Given the description of an element on the screen output the (x, y) to click on. 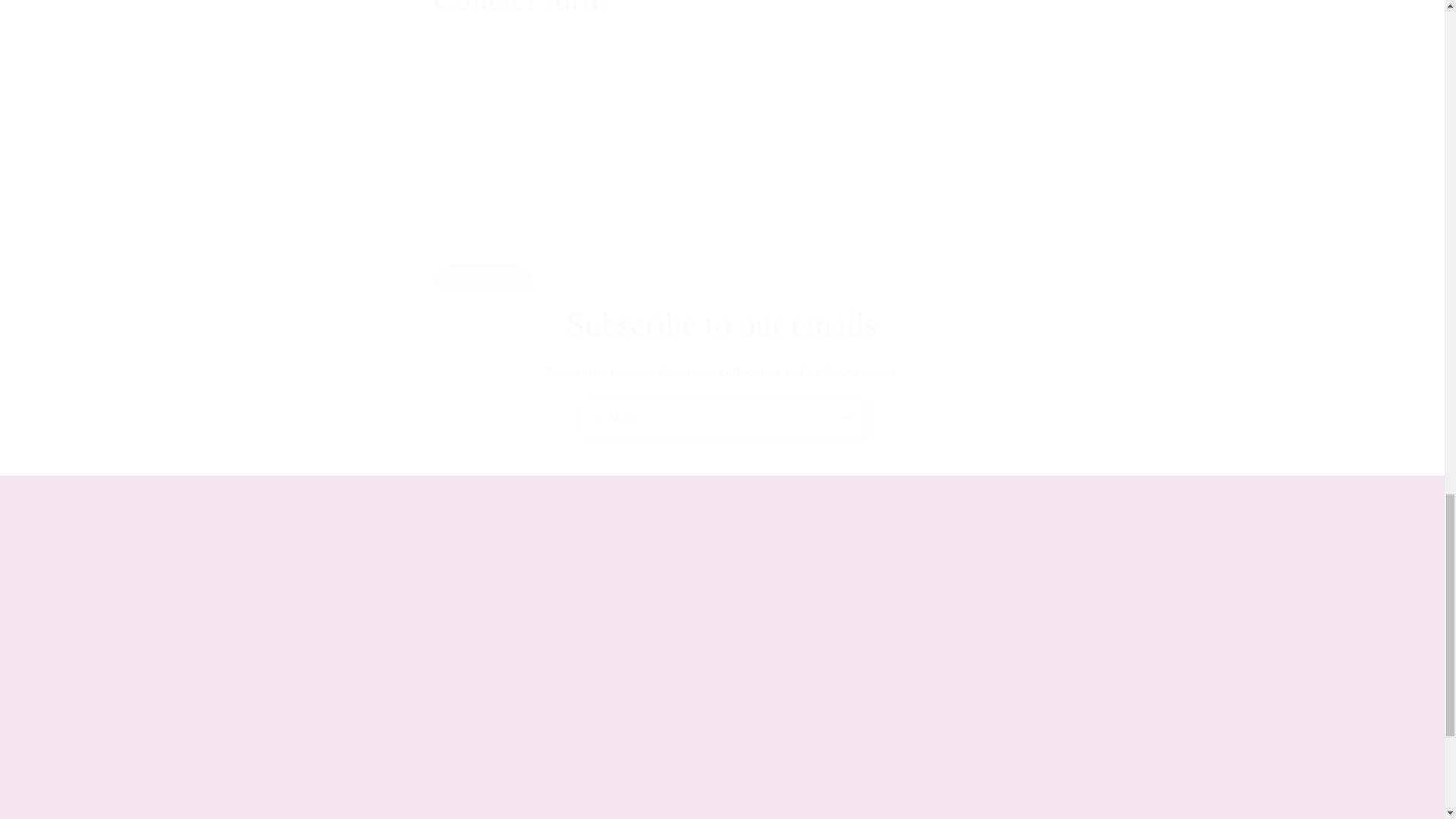
Subscribe to our emails (722, 324)
Contact form (721, 10)
tel:01437 721511 (841, 676)
E-Mail (722, 417)
